Given the description of an element on the screen output the (x, y) to click on. 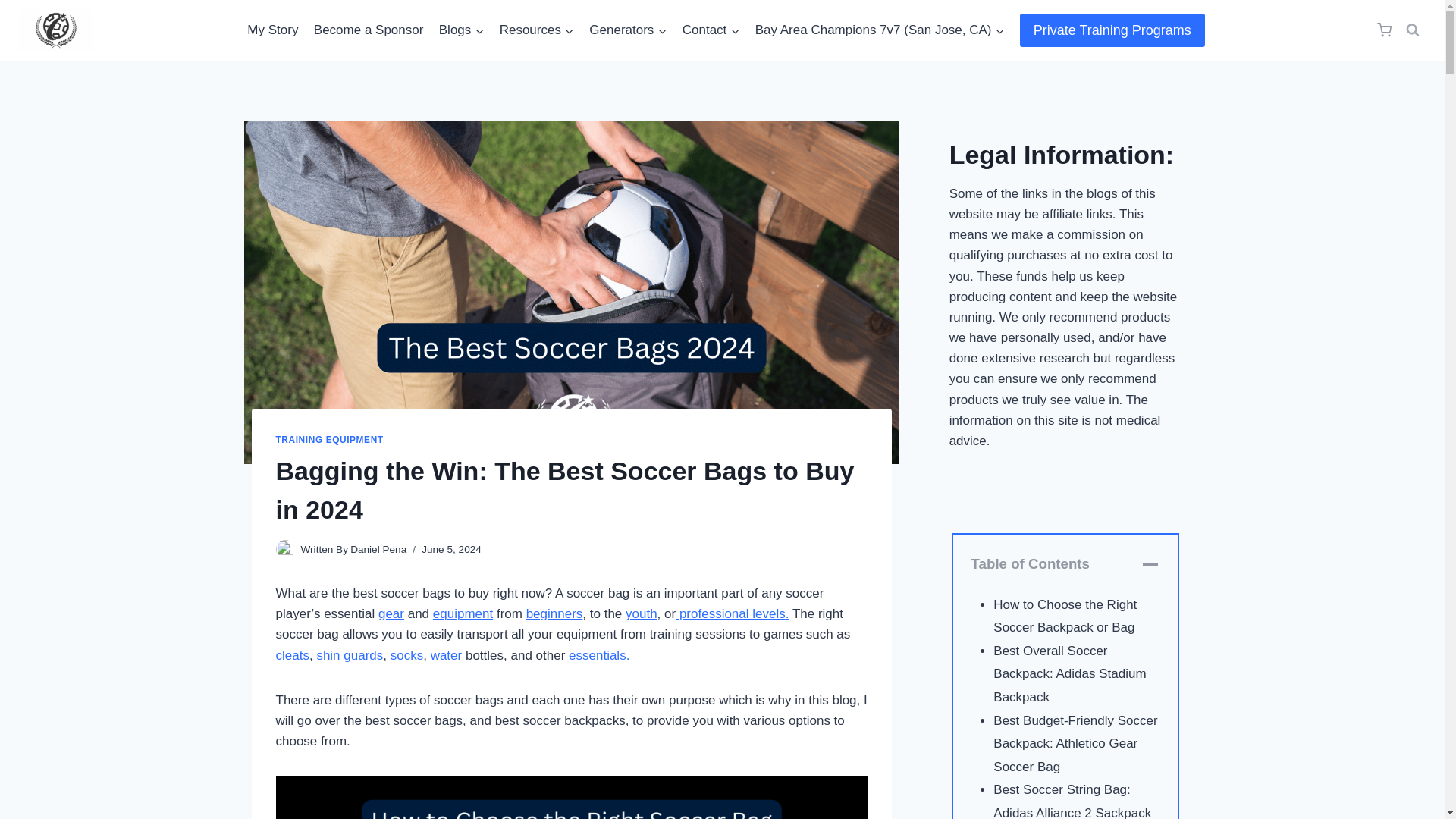
My Story (272, 30)
gear (391, 613)
beginners (554, 613)
youth (642, 613)
Contact (711, 30)
Become a Sponsor (367, 30)
Private Training Programs (1112, 29)
Resources (536, 30)
equipment (462, 613)
TRAINING EQUIPMENT (330, 439)
